Given the description of an element on the screen output the (x, y) to click on. 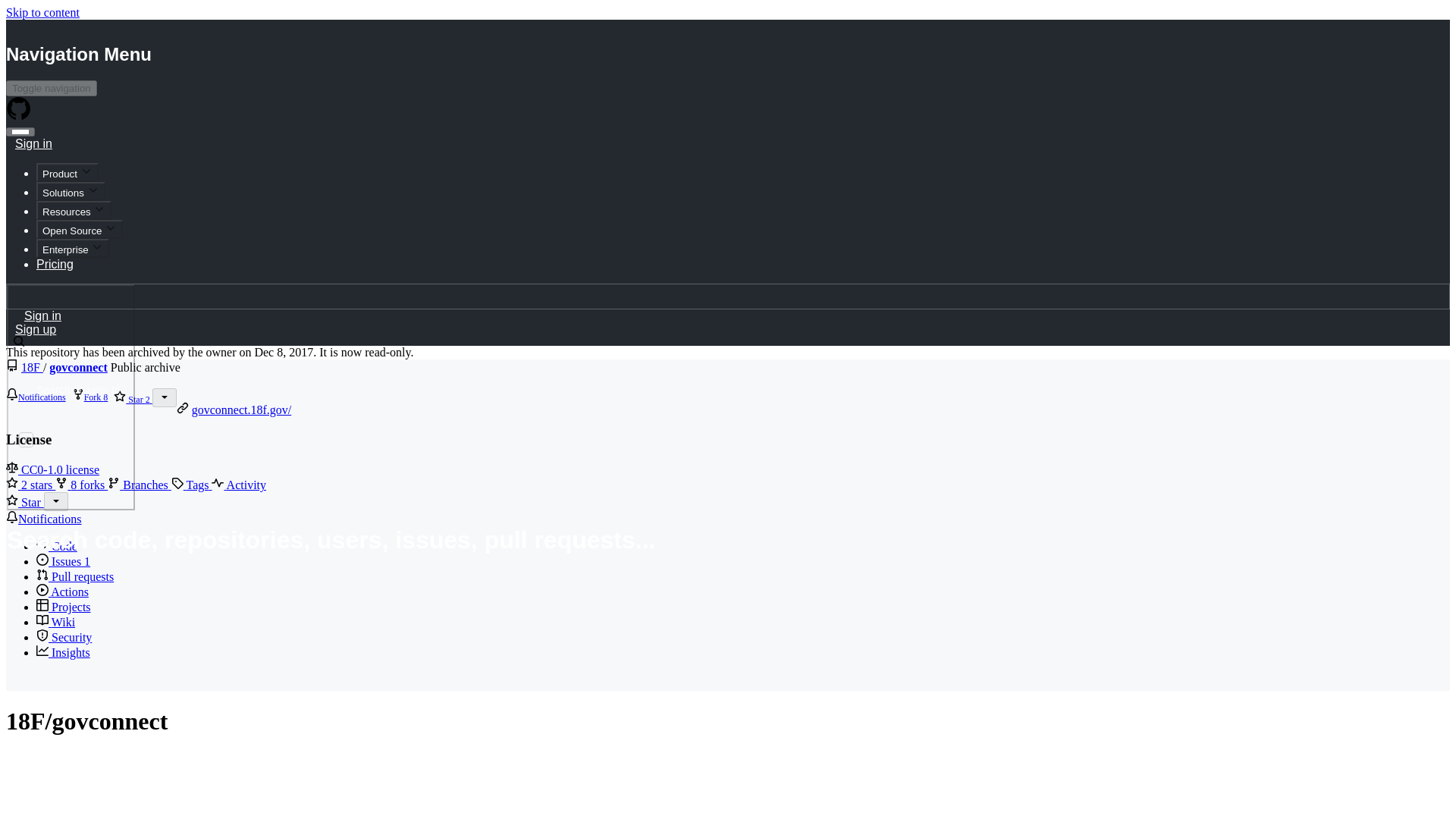
Sign in (33, 141)
Solutions (70, 190)
Open Source (79, 229)
Toggle navigation (51, 88)
Product (67, 171)
Resources (74, 210)
Skip to content (42, 11)
